Given the description of an element on the screen output the (x, y) to click on. 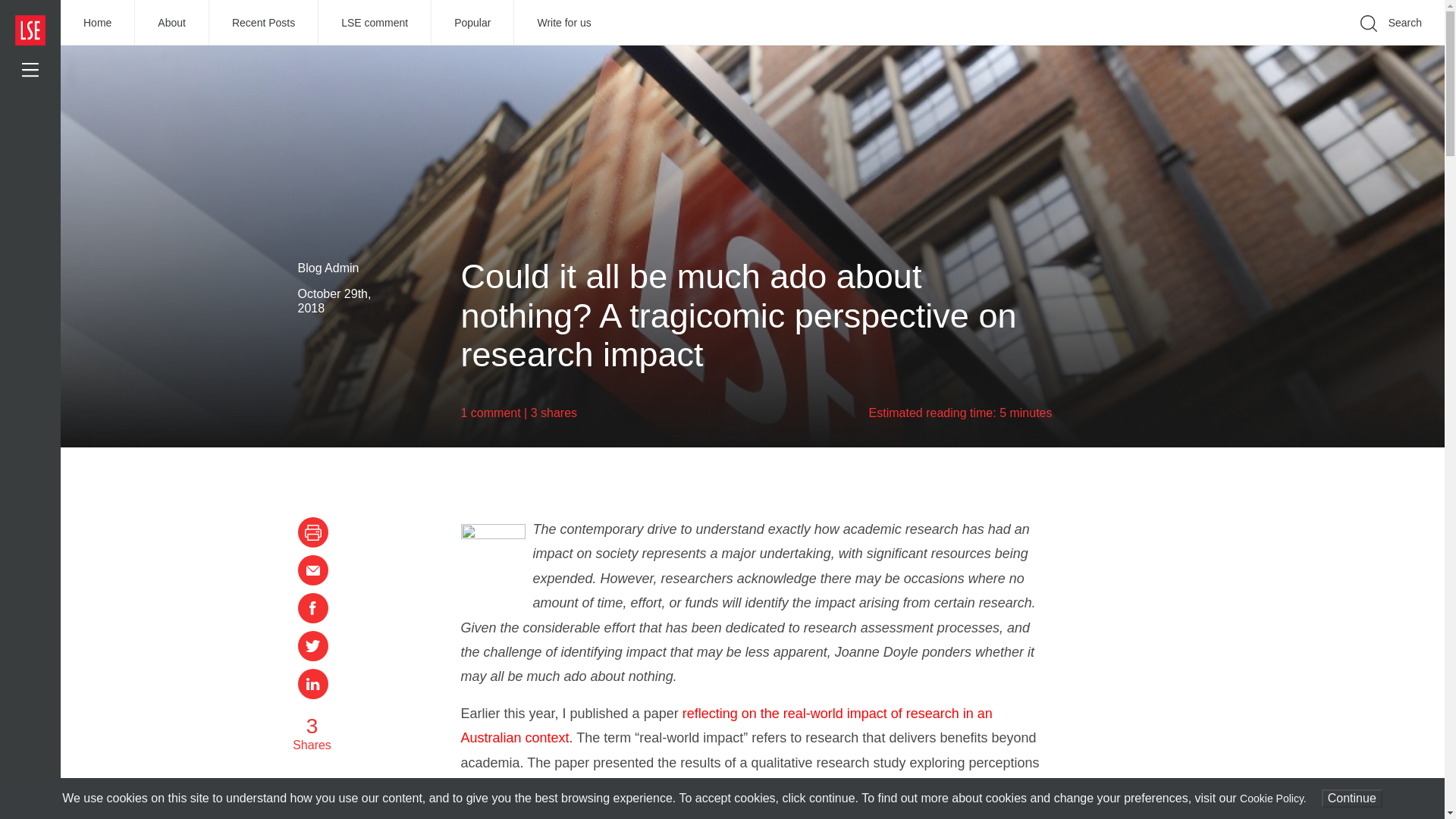
Write for us (562, 22)
Popular (471, 22)
Go (1190, 44)
1 comment (491, 412)
About (172, 22)
LSE comment (374, 22)
Home (98, 22)
Recent Posts (263, 22)
